Given the description of an element on the screen output the (x, y) to click on. 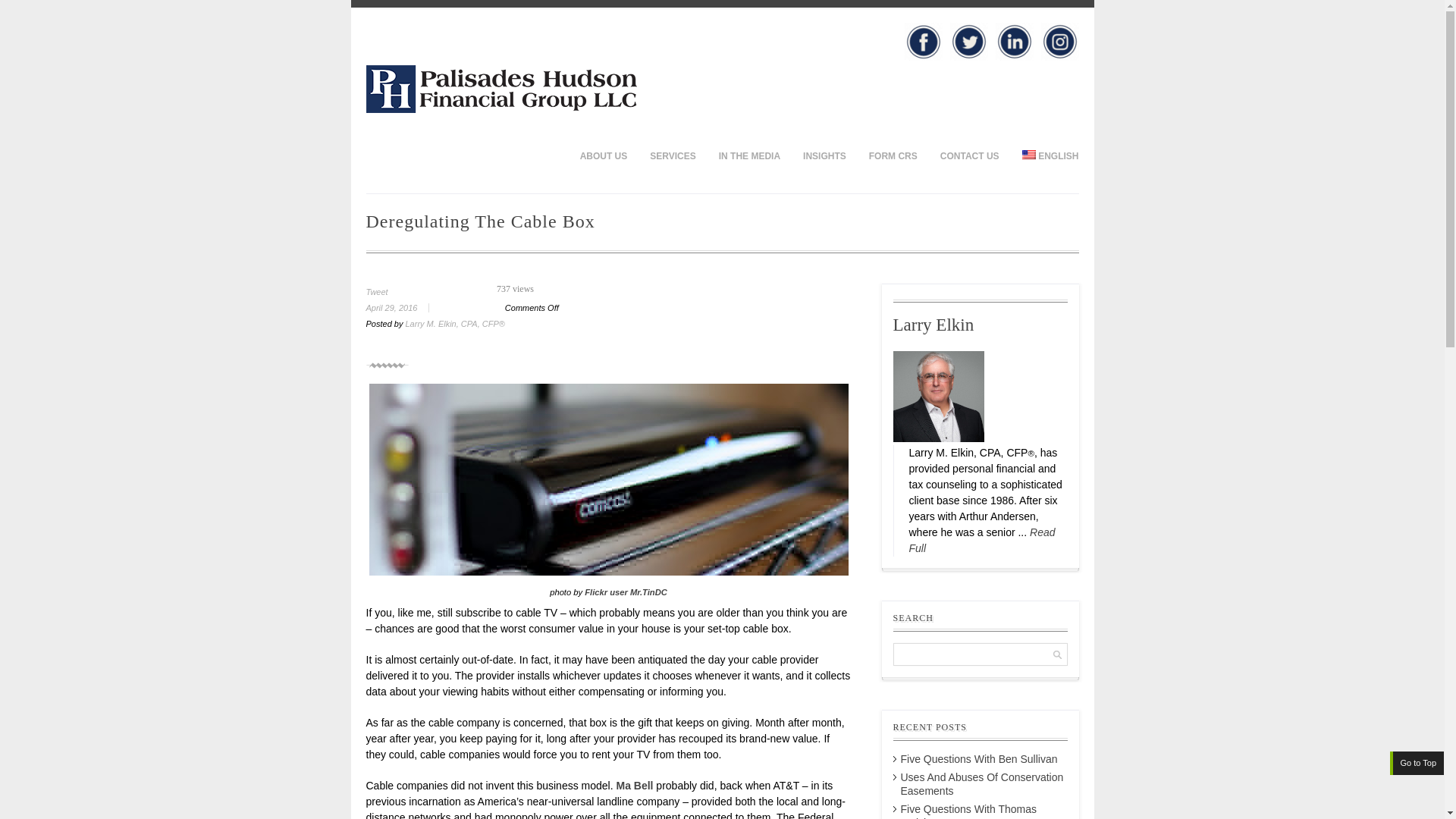
IN THE MEDIA (749, 155)
Facebook (923, 41)
Flickr user Mr.TinDC (625, 592)
April 29, 2016 (403, 307)
English (1028, 153)
Ma Bell (633, 785)
Tweet (376, 291)
Instagram (1059, 41)
9:00 am (403, 307)
ABOUT US (604, 155)
FORM CRS (892, 155)
CONTACT US (969, 155)
SERVICES (672, 155)
Read full Profile (981, 540)
LinkedIn (1013, 41)
